Given the description of an element on the screen output the (x, y) to click on. 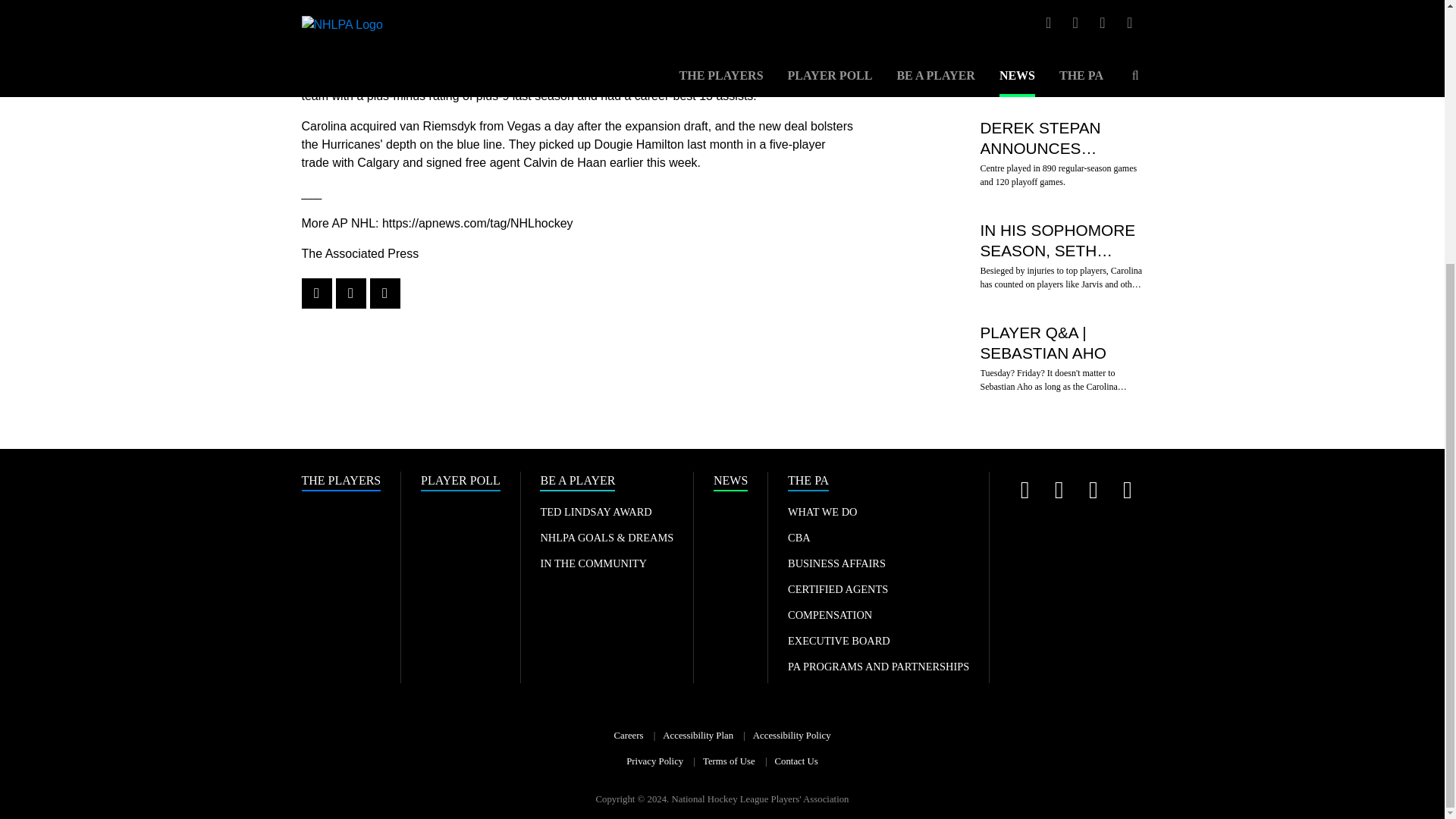
Instagram (1058, 489)
THE PLAYERS (341, 481)
PLAYER POLL (460, 481)
Share to Twitter (349, 293)
Facebook (1127, 489)
CBA (798, 537)
YouTube (1092, 489)
NEWS (730, 481)
BE A PLAYER (577, 481)
